Given the description of an element on the screen output the (x, y) to click on. 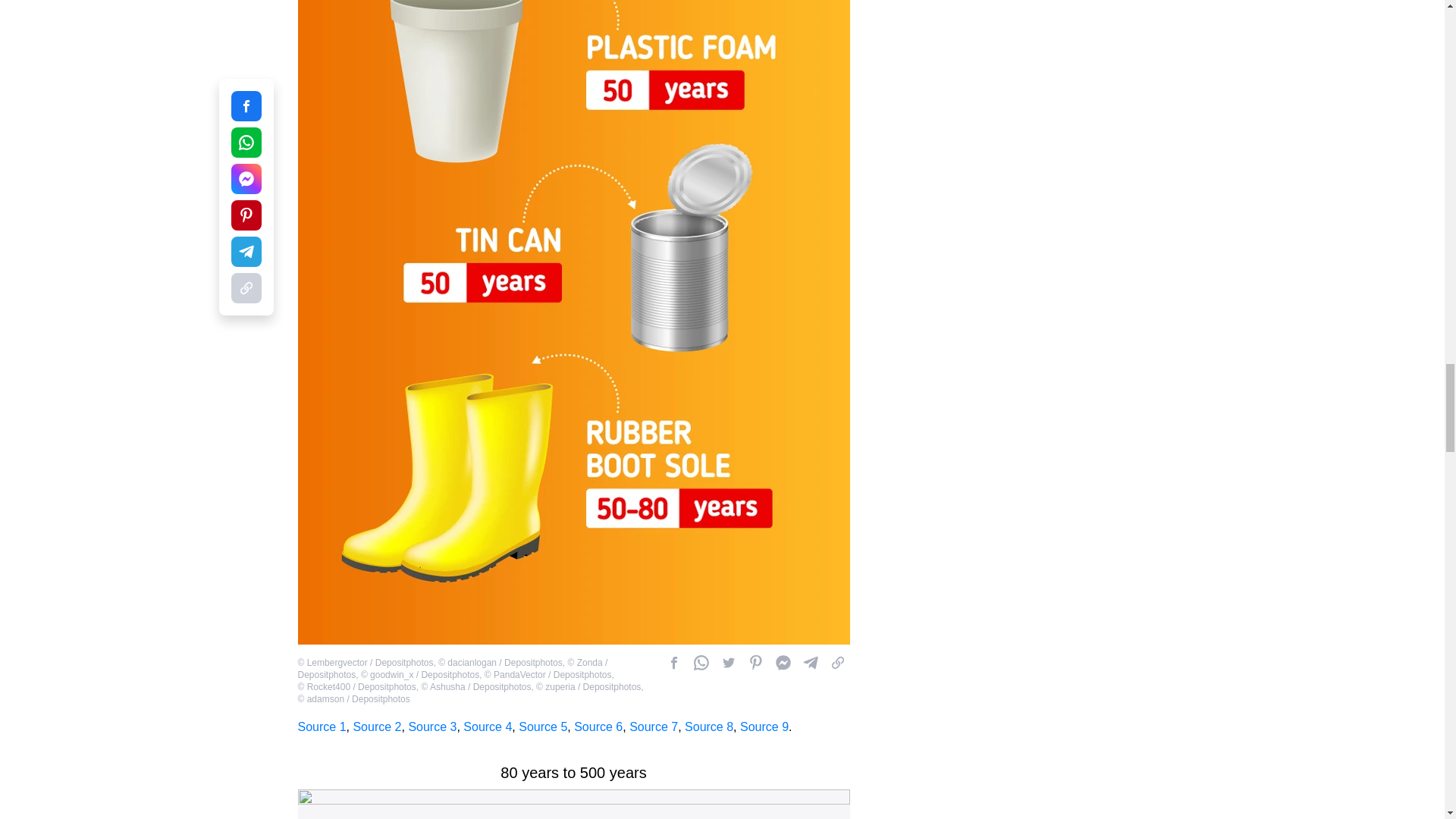
Share on Twitter (727, 662)
Share on Facebook (673, 662)
Share on WhatsApp (700, 662)
Share on Facebook (782, 662)
Share on Pinterest (754, 662)
